Given the description of an element on the screen output the (x, y) to click on. 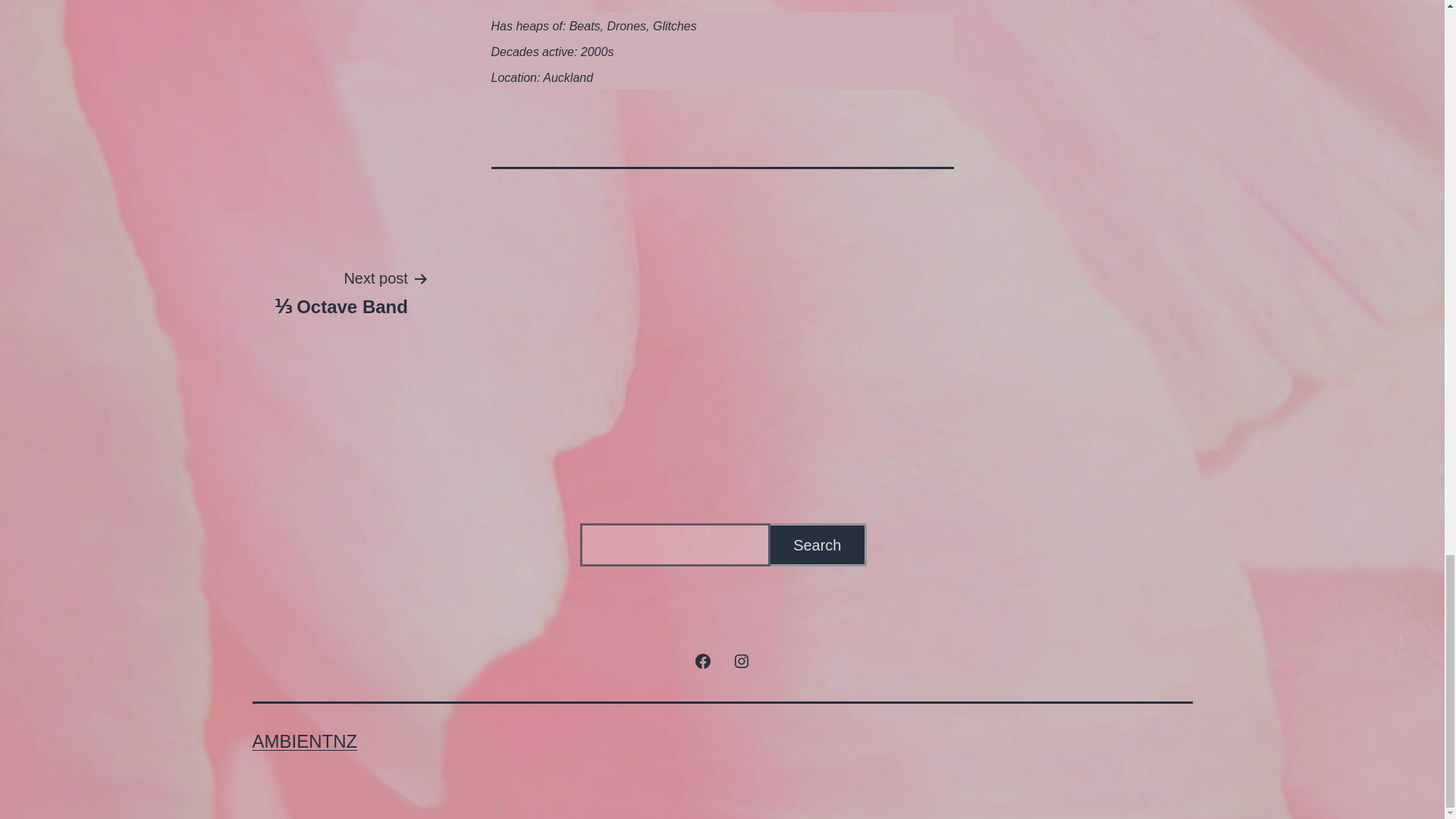
Facebook (703, 659)
Instagram (741, 659)
Search (817, 544)
AMBIENTNZ (303, 741)
